Given the description of an element on the screen output the (x, y) to click on. 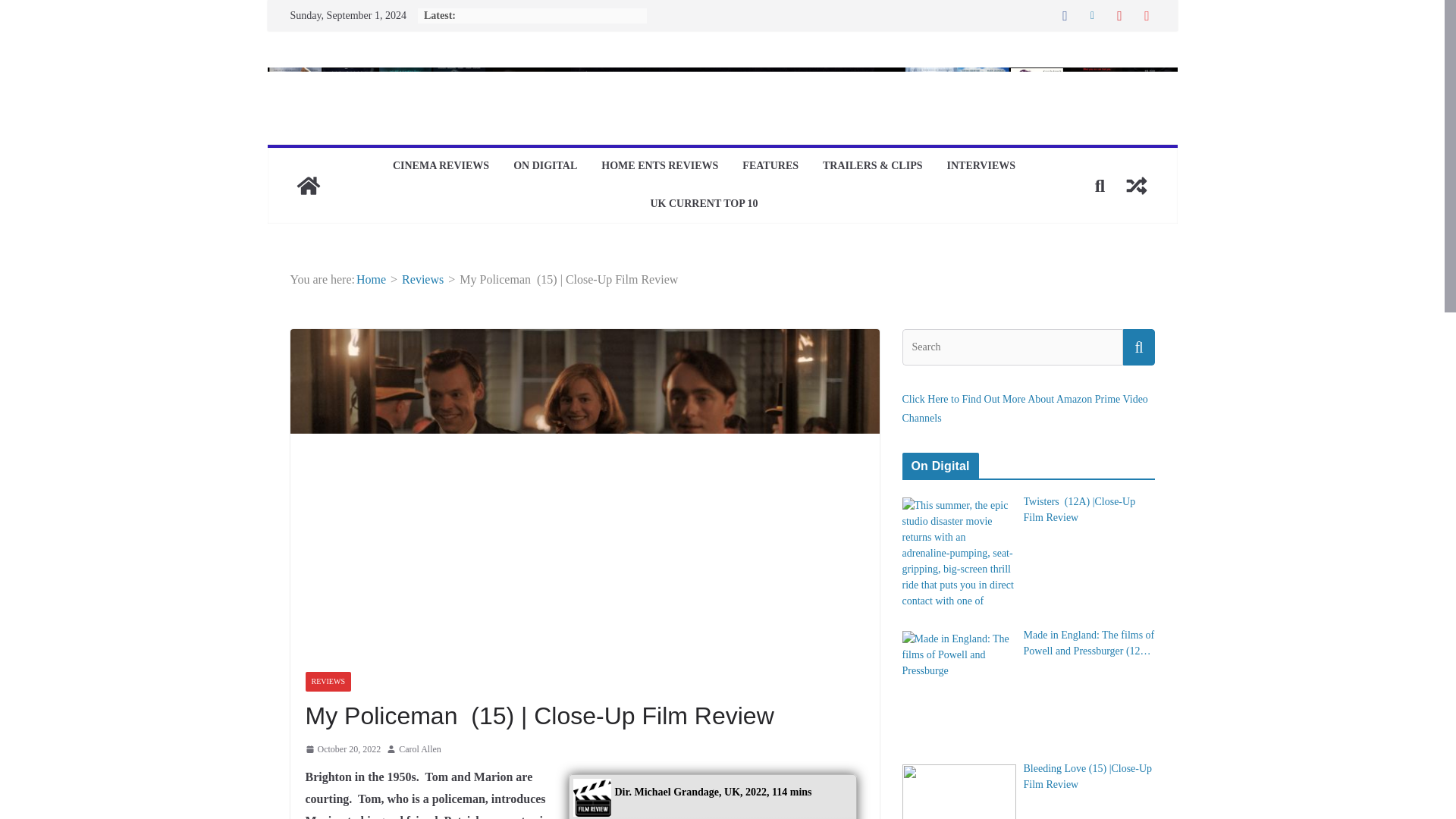
INTERVIEWS (980, 166)
close-upfilm (721, 77)
close-upfilm (307, 185)
REVIEWS (327, 681)
FEATURES (769, 166)
9:30 pm (342, 750)
ON DIGITAL (544, 166)
View a random post (1136, 185)
Home (370, 278)
Reviews (422, 278)
